Given the description of an element on the screen output the (x, y) to click on. 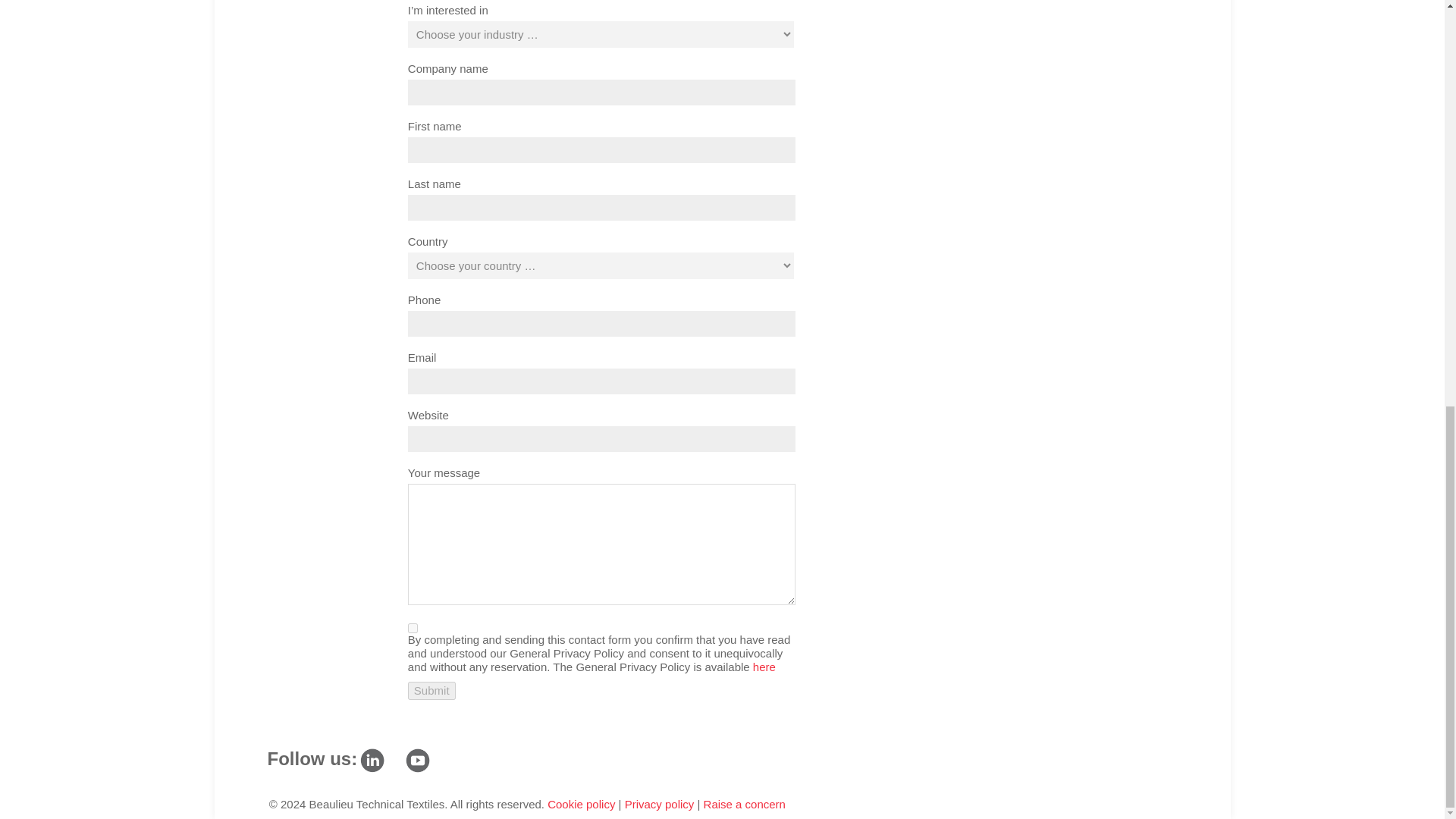
Privacy policy (659, 803)
Privacy policy (659, 803)
Raise a concern (744, 803)
Raise a concern (744, 803)
Submit (431, 690)
Cookie policy  (580, 803)
here (764, 666)
Submit (431, 690)
on (412, 628)
Cookie policy (580, 803)
